Given the description of an element on the screen output the (x, y) to click on. 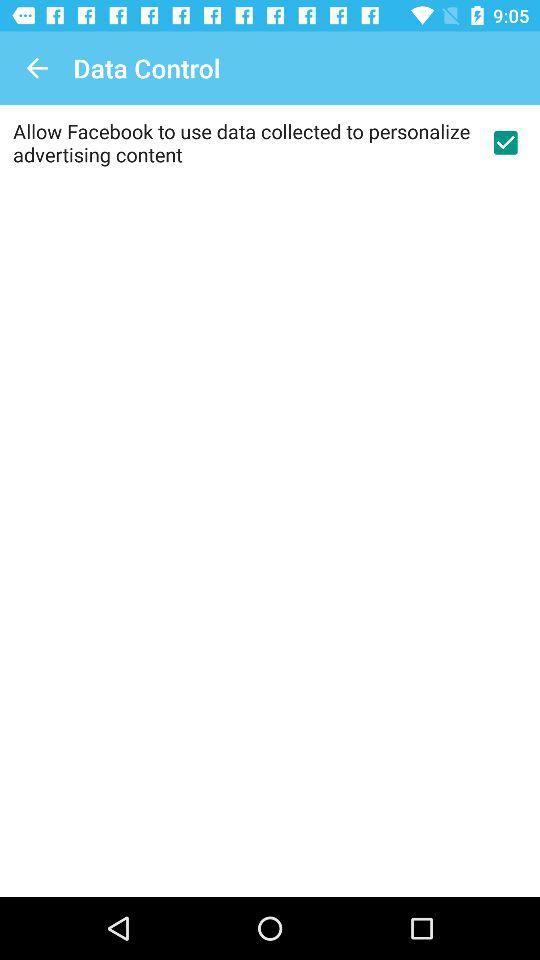
allow personalized advertisements (505, 142)
